Given the description of an element on the screen output the (x, y) to click on. 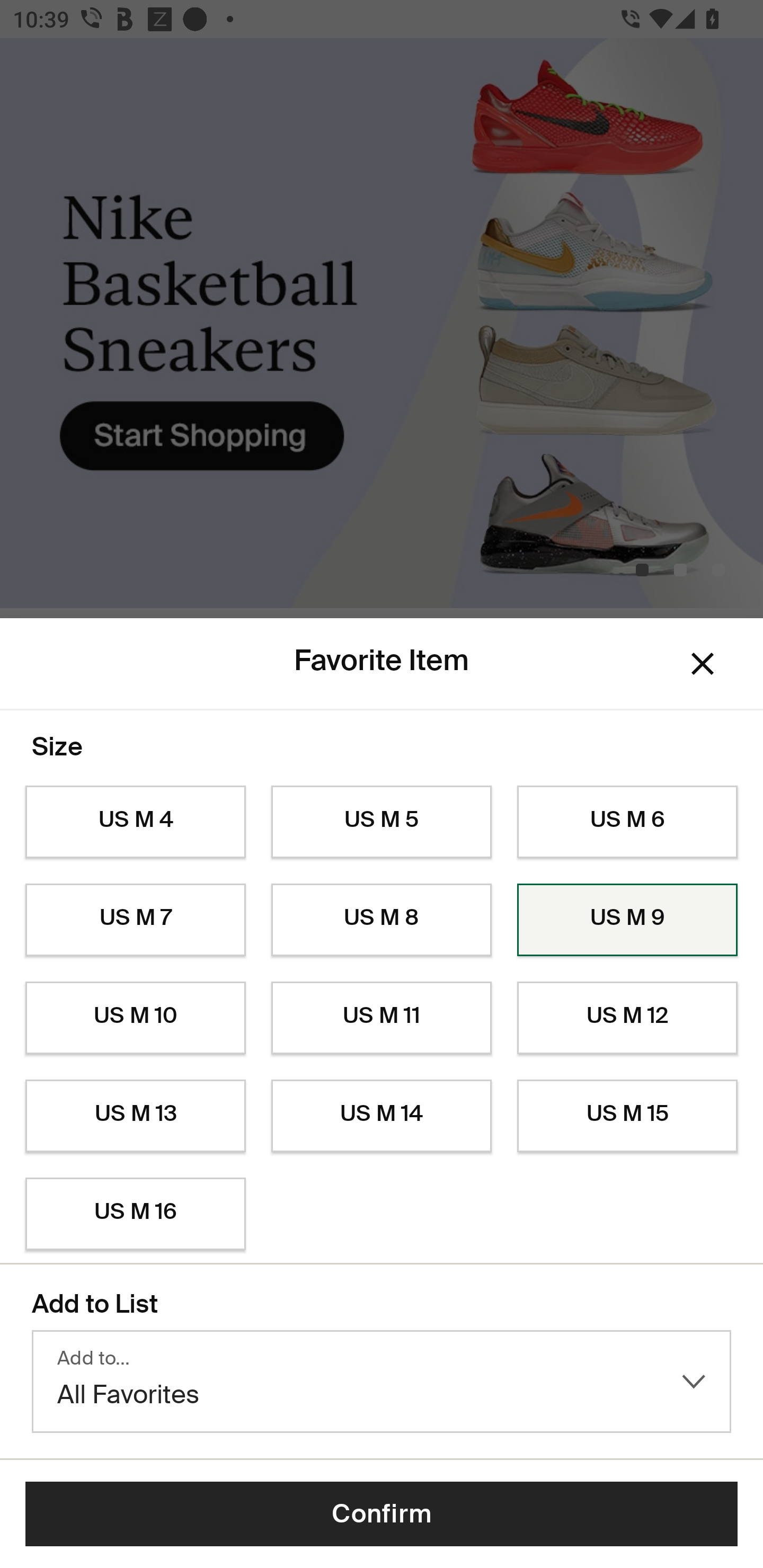
Dismiss (702, 663)
US M 4 (135, 822)
US M 5 (381, 822)
US M 6 (627, 822)
US M 7 (135, 919)
US M 8 (381, 919)
US M 9 (627, 919)
US M 10 (135, 1018)
US M 11 (381, 1018)
US M 12 (627, 1018)
US M 13 (135, 1116)
US M 14 (381, 1116)
US M 15 (627, 1116)
US M 16 (135, 1214)
Add to… All Favorites (381, 1381)
Confirm (381, 1513)
